Given the description of an element on the screen output the (x, y) to click on. 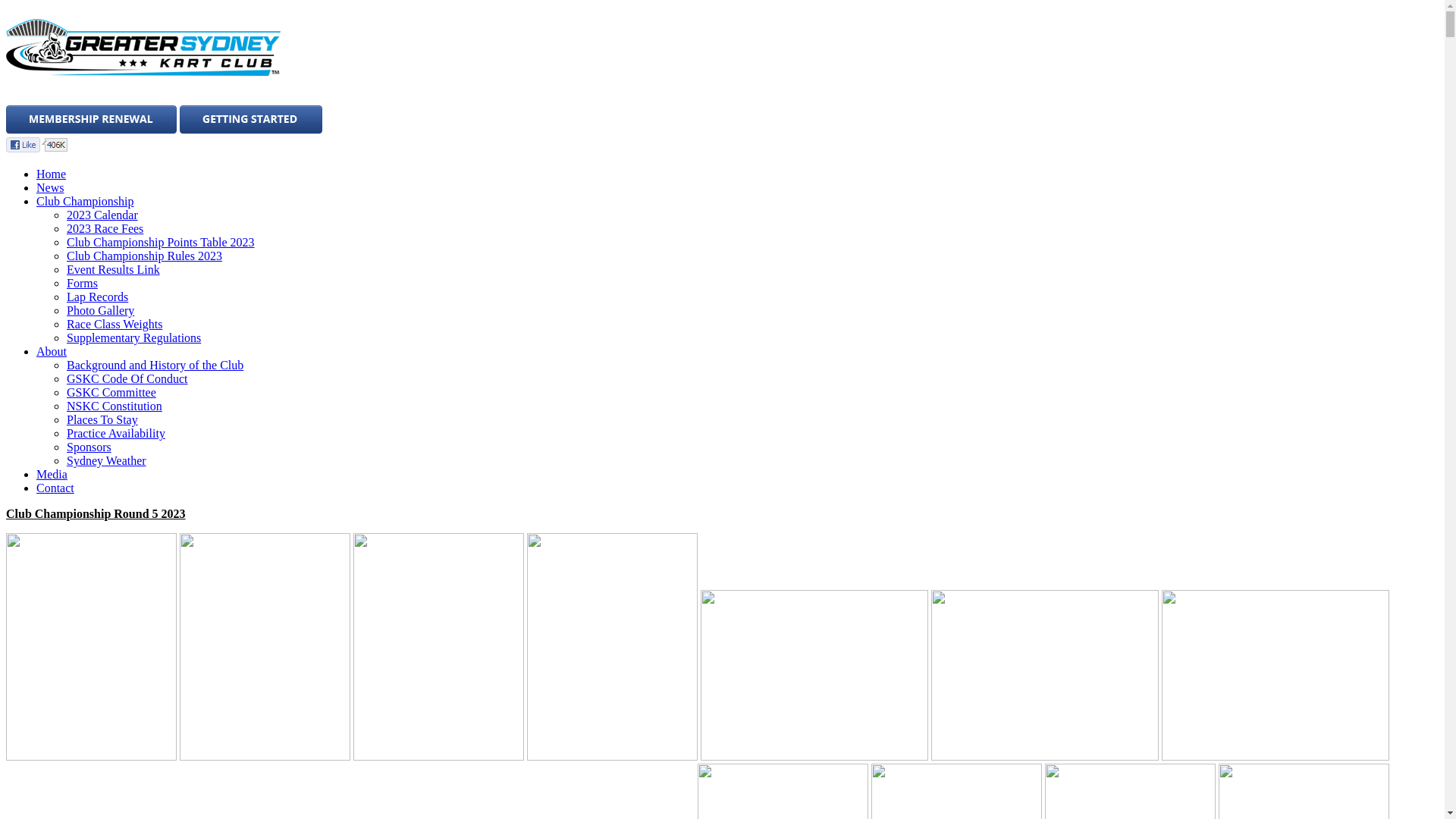
Sponsors Element type: text (88, 446)
NSKC Constitution Element type: text (114, 405)
Media Element type: text (51, 473)
Forms Element type: text (81, 282)
Practice Availability Element type: text (115, 432)
Club Championship Rules 2023 Element type: text (144, 255)
Club Championship Element type: text (84, 200)
Sydney Weather Element type: text (106, 460)
Supplementary Regulations Element type: text (133, 337)
News Element type: text (49, 187)
Event Results Link Element type: text (113, 269)
About Element type: text (51, 351)
Places To Stay Element type: text (102, 419)
Race Class Weights Element type: text (114, 323)
Contact Element type: text (55, 487)
2023 Calendar Element type: text (102, 214)
Membership Renewal Element type: hover (91, 119)
Like Element type: hover (36, 144)
2023 Race Fees Element type: text (104, 228)
Getting Started Element type: hover (250, 119)
GSKC Committee Element type: text (111, 391)
Background and History of the Club Element type: text (154, 364)
Photo Gallery Element type: text (100, 310)
GSKC Code Of Conduct Element type: text (127, 378)
Greater Sydney Kart Club Element type: hover (166, 48)
Lap Records Element type: text (97, 296)
Club Championship Points Table 2023 Element type: text (160, 241)
Home Element type: text (50, 173)
